Given the description of an element on the screen output the (x, y) to click on. 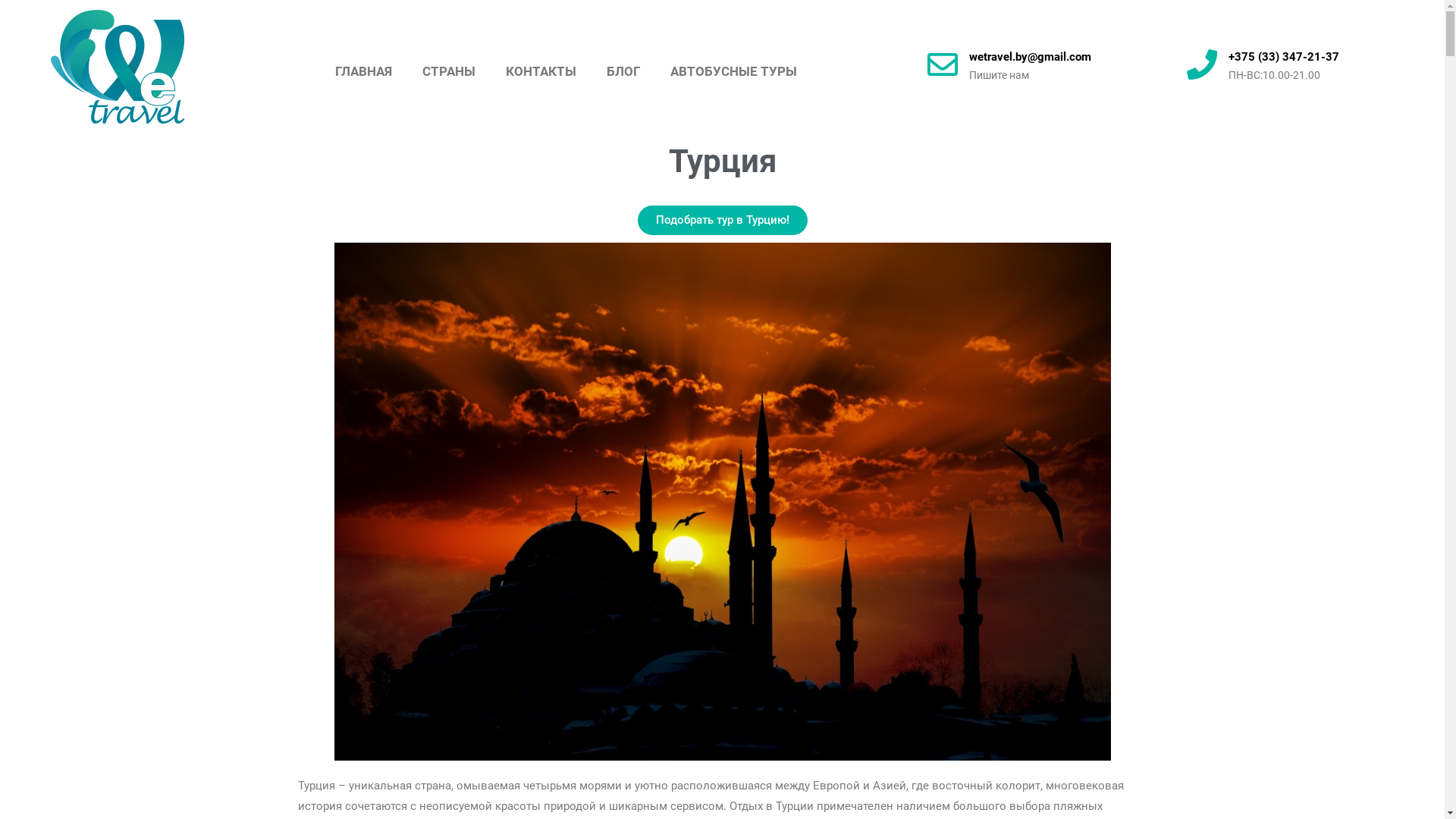
Logo_We travel_end Element type: hover (117, 66)
wetravel.by@gmail.com Element type: text (1030, 56)
+375 (33) 347-21-37 Element type: text (1283, 56)
